Given the description of an element on the screen output the (x, y) to click on. 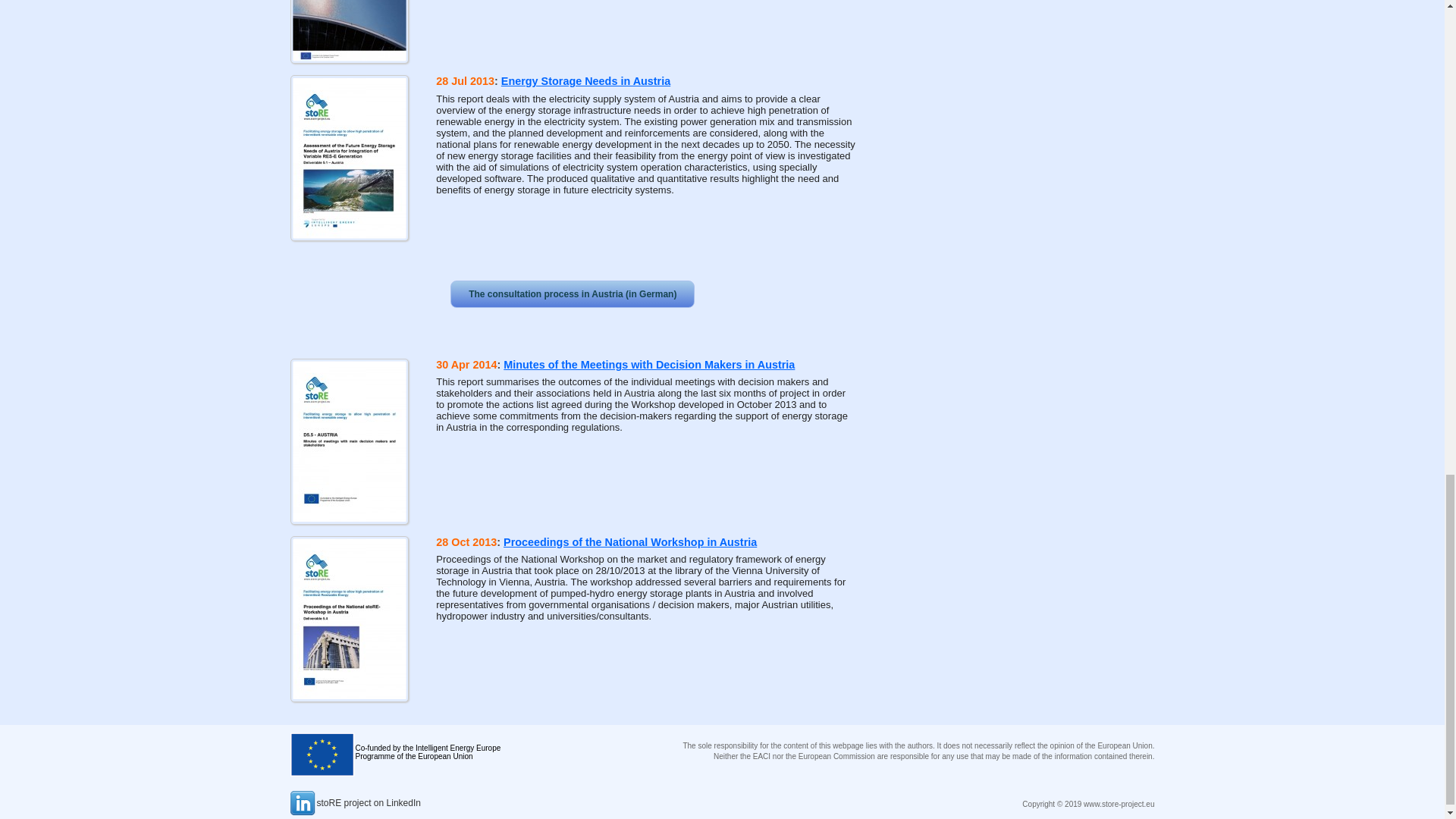
Minutes of the Meetings with Decision Makers in Austria (648, 364)
stoRE project on LinkedIn (354, 803)
Energy Storage Needs in Austria (584, 80)
Proceedings of the National Workshop in Austria (630, 541)
